Given the description of an element on the screen output the (x, y) to click on. 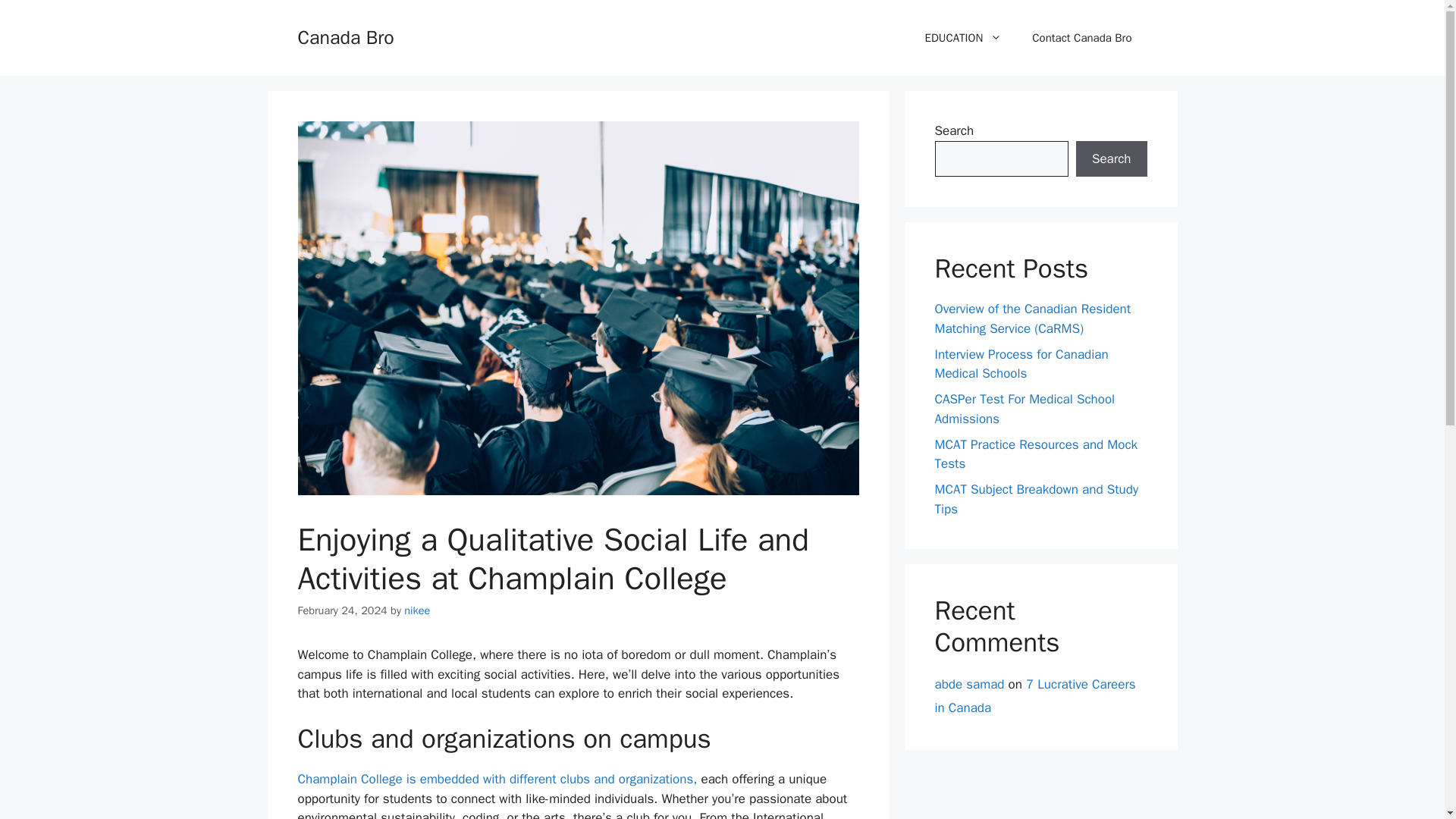
abde samad (969, 684)
Interview Process for Canadian Medical Schools (1021, 363)
CASPer Test For Medical School Admissions (1024, 408)
MCAT Subject Breakdown and Study Tips (1036, 498)
MCAT Practice Resources and Mock Tests (1035, 454)
EDUCATION (963, 37)
Search (1111, 158)
Canada Bro (345, 37)
7 Lucrative Careers in Canada (1034, 695)
